Given the description of an element on the screen output the (x, y) to click on. 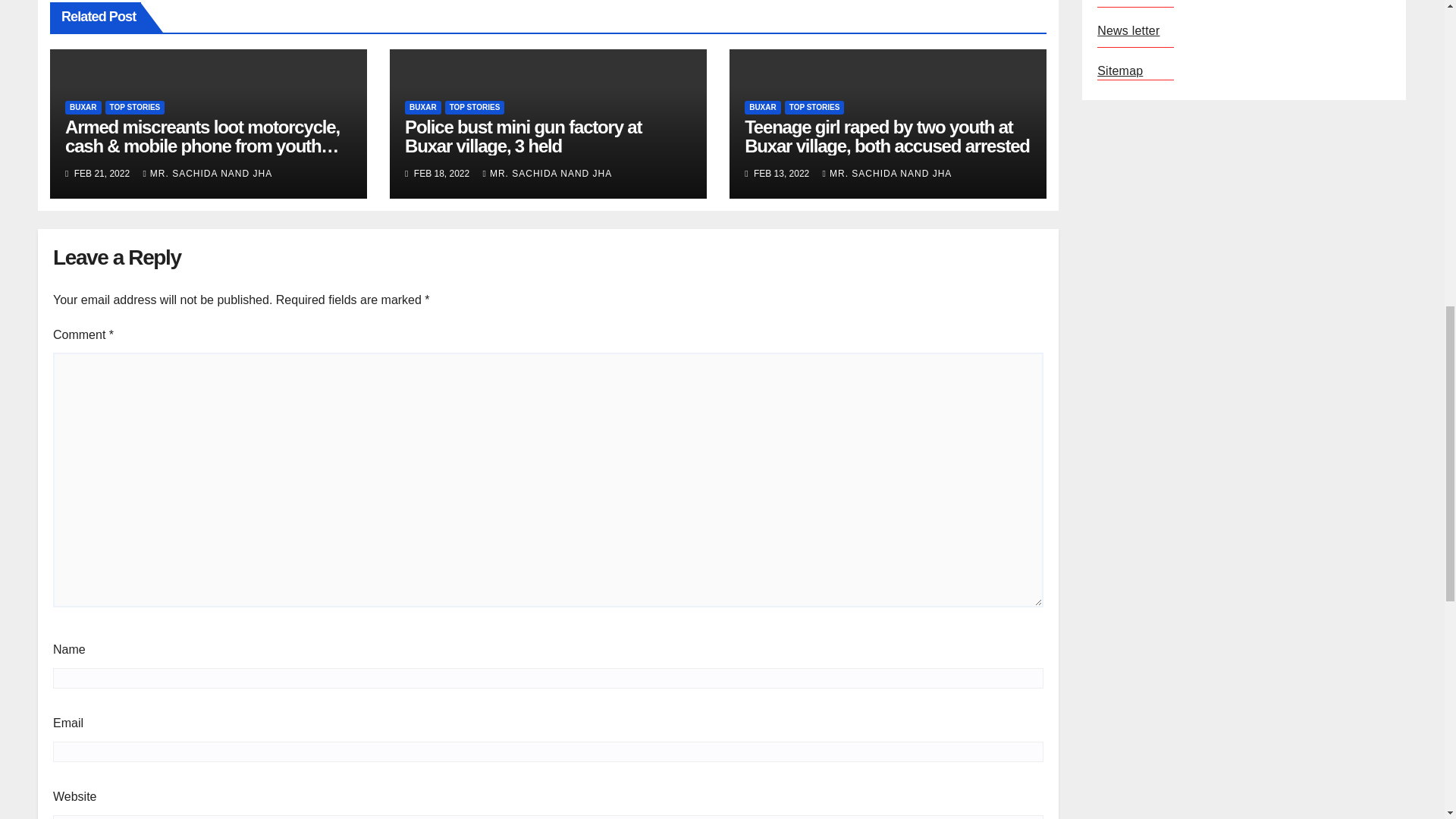
MR. SACHIDA NAND JHA (207, 173)
BUXAR (83, 107)
TOP STORIES (134, 107)
